Given the description of an element on the screen output the (x, y) to click on. 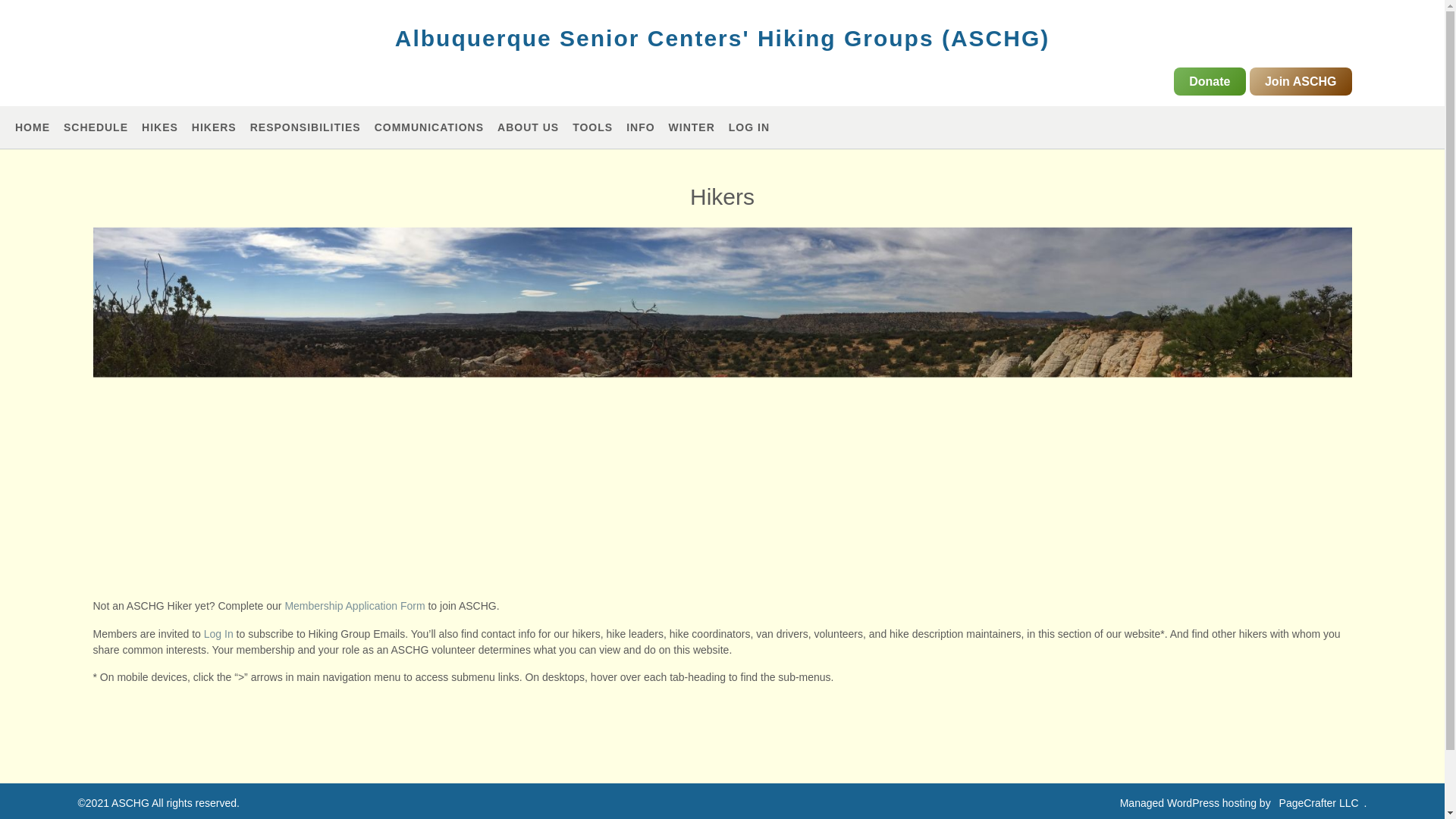
RESPONSIBILITIES (305, 127)
INFO (639, 127)
TOOLS (592, 127)
HOME (31, 127)
ABOUT US (528, 127)
COMMUNICATIONS (428, 127)
HIKERS (213, 127)
HIKES (159, 127)
Join ASCHG (1300, 81)
LOG IN (749, 127)
Donate (1208, 81)
WINTER (691, 127)
SCHEDULE (96, 127)
